Given the description of an element on the screen output the (x, y) to click on. 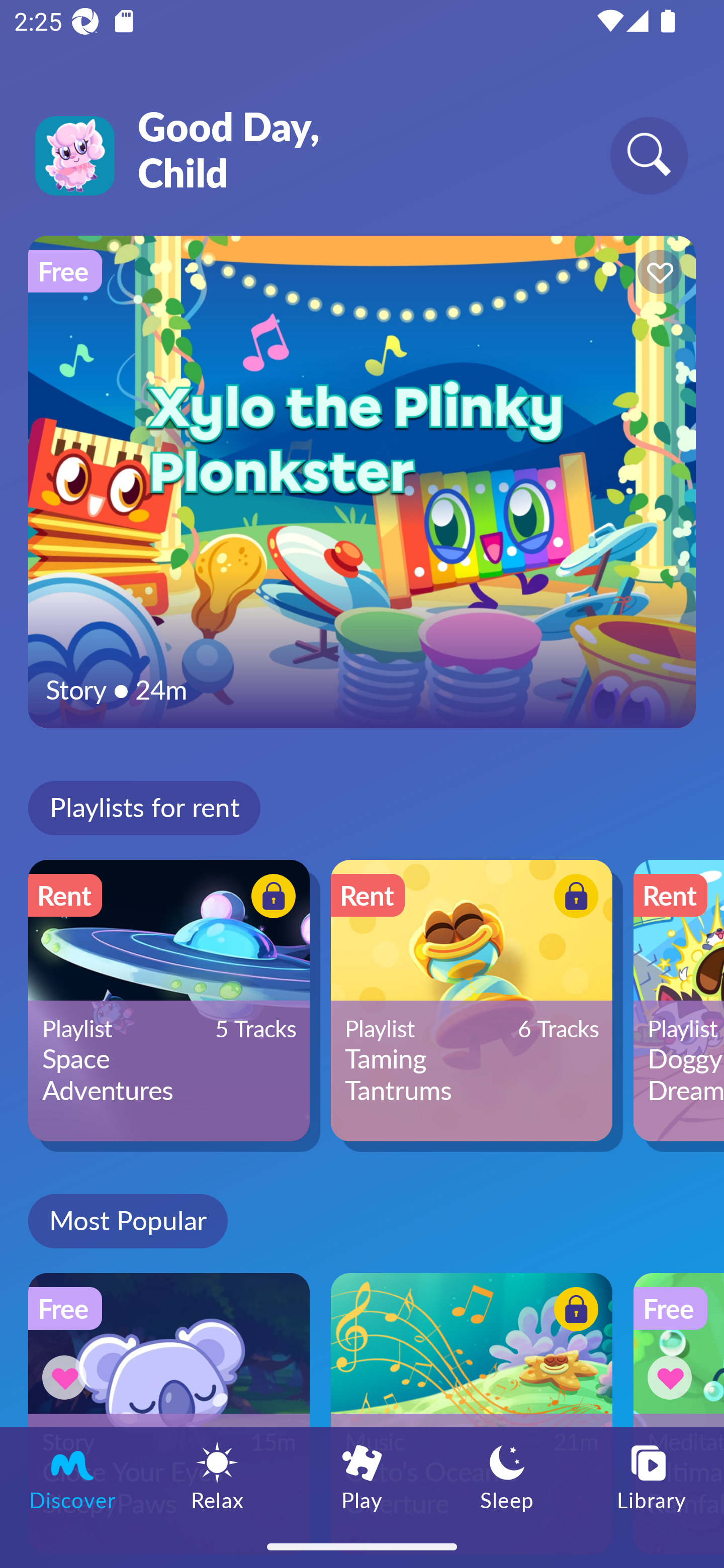
Search (648, 154)
Featured Content Free Button Story ● 24m (361, 481)
Button (656, 274)
Button (269, 898)
Button (573, 898)
Button (573, 1312)
Button (67, 1377)
Button (672, 1377)
Relax (216, 1475)
Play (361, 1475)
Sleep (506, 1475)
Library (651, 1475)
